Given the description of an element on the screen output the (x, y) to click on. 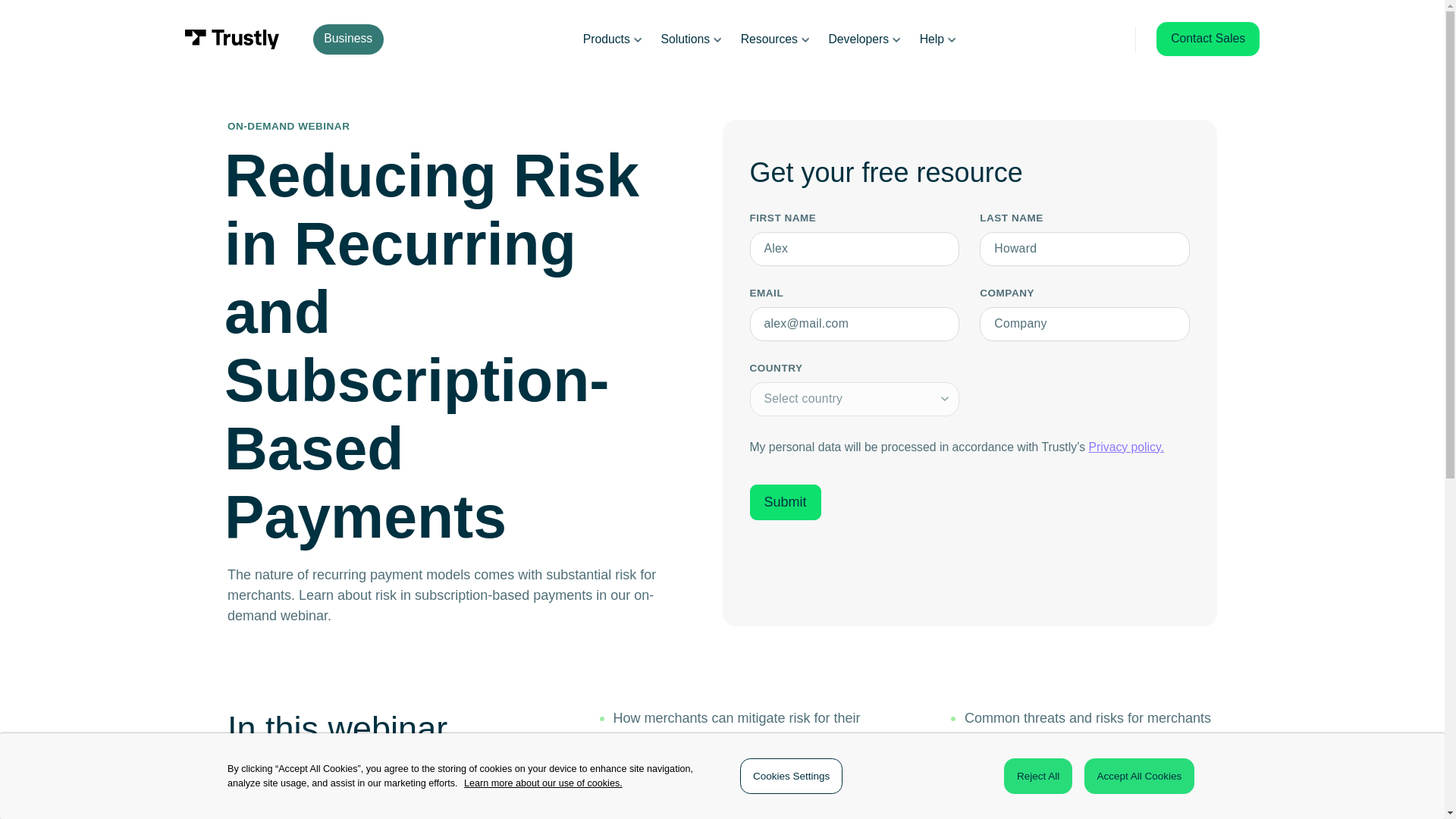
Business (348, 39)
Submit (785, 502)
Log in (1096, 38)
Contact Sales (1207, 39)
Personal (428, 39)
